Given the description of an element on the screen output the (x, y) to click on. 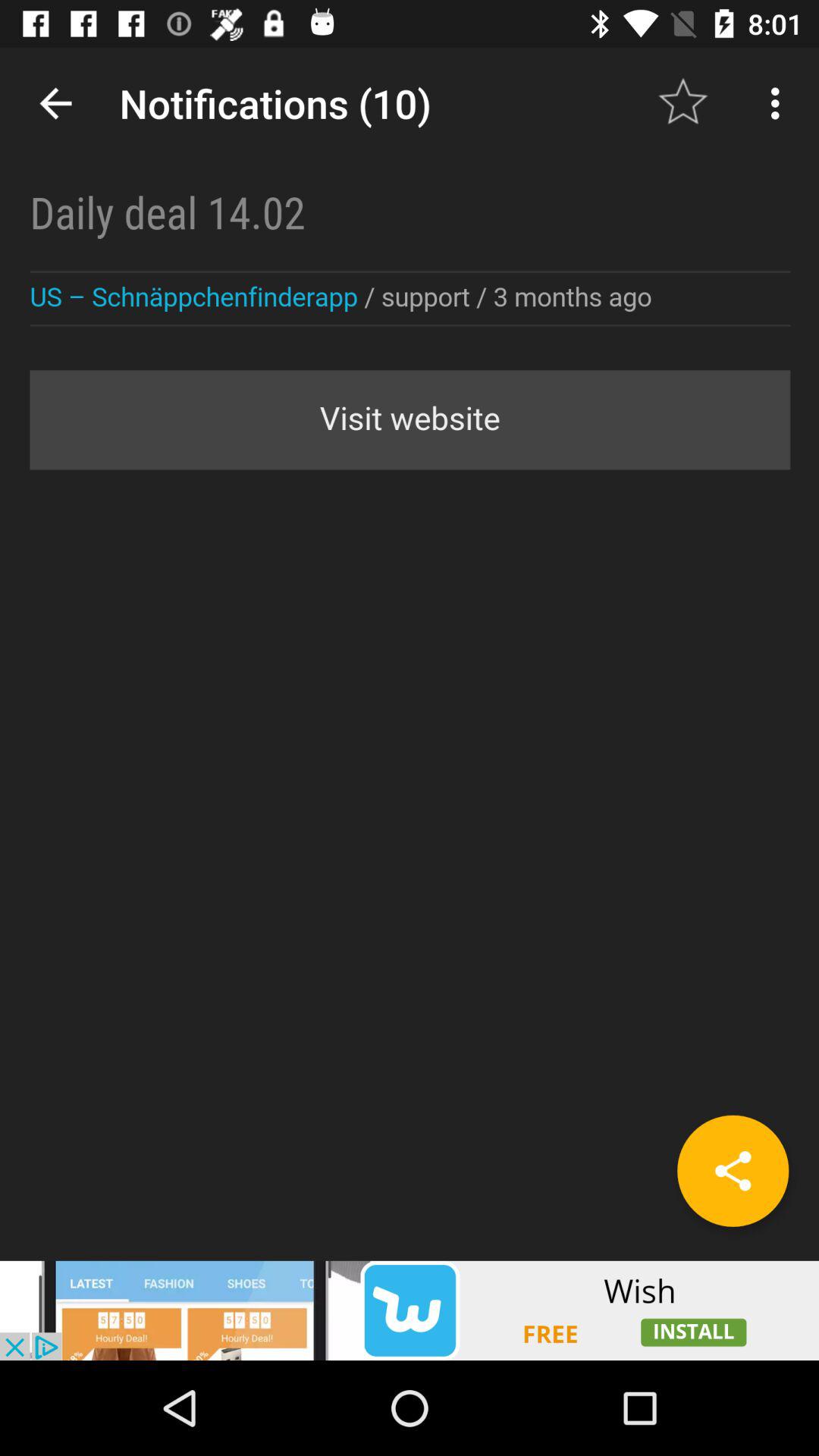
web page pop up advertisement (409, 1310)
